Given the description of an element on the screen output the (x, y) to click on. 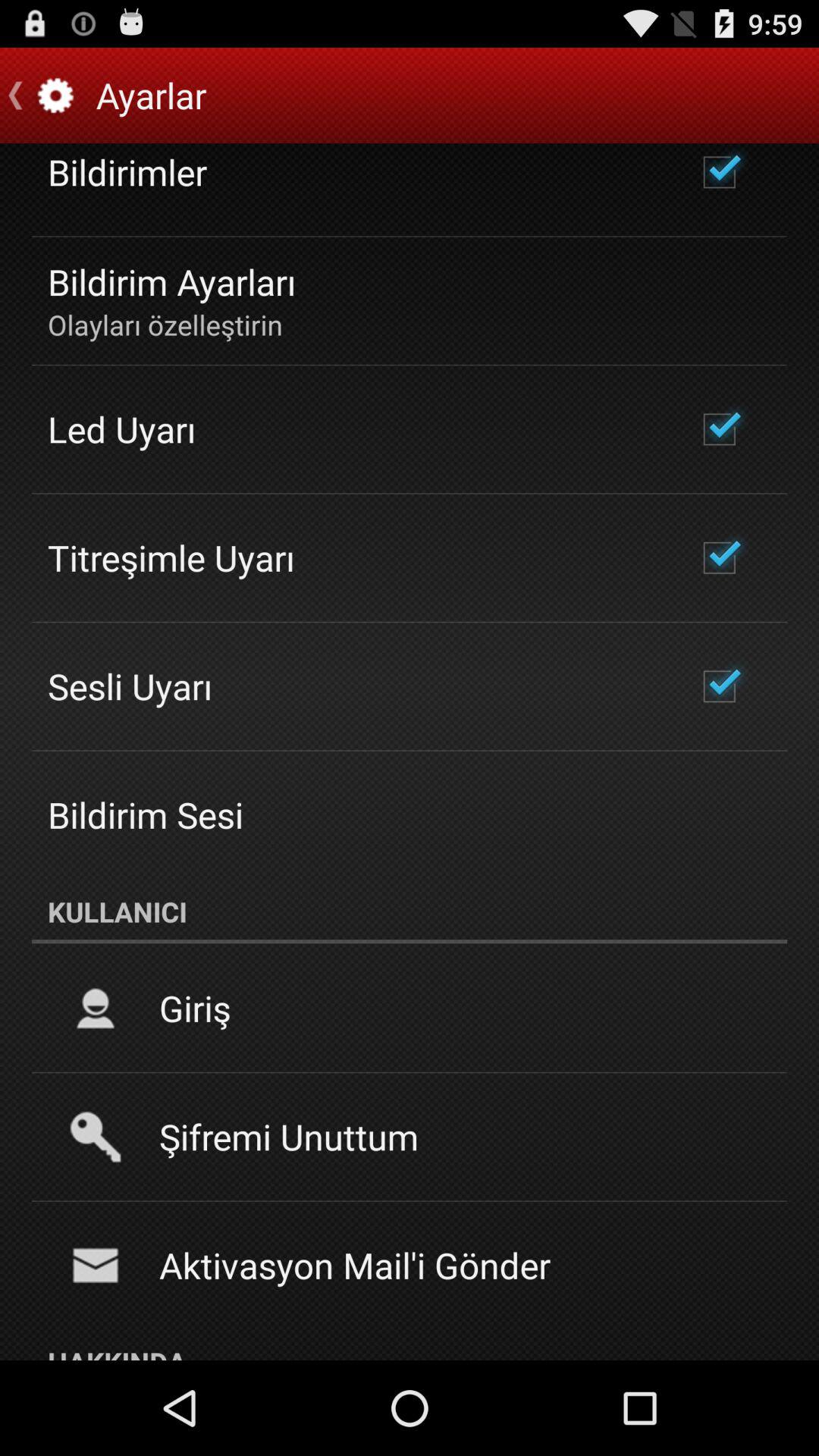
flip to bildirimler (127, 171)
